Given the description of an element on the screen output the (x, y) to click on. 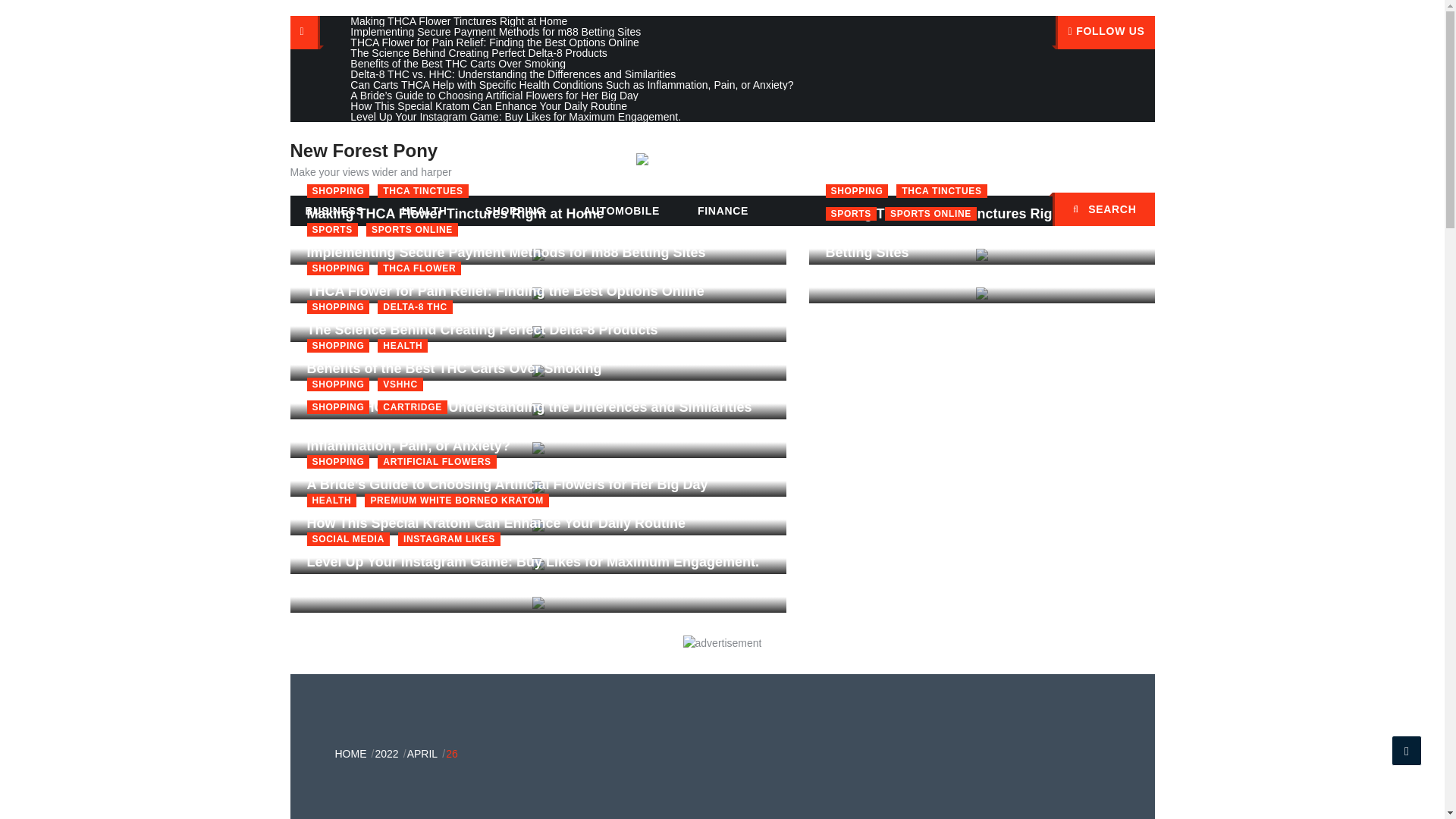
Implementing Secure Payment Methods for m88 Betting Sites (981, 245)
JULY 10, 2024 (866, 240)
New Forest Pony (363, 150)
Making THCA Flower Tinctures Right at Home (973, 213)
FOLLOW US (1104, 32)
SHOPPING (337, 306)
AUTOMOBILE (621, 210)
SPORTS (850, 213)
SPORTS ONLINE (930, 213)
STEPHEN (422, 317)
